Given the description of an element on the screen output the (x, y) to click on. 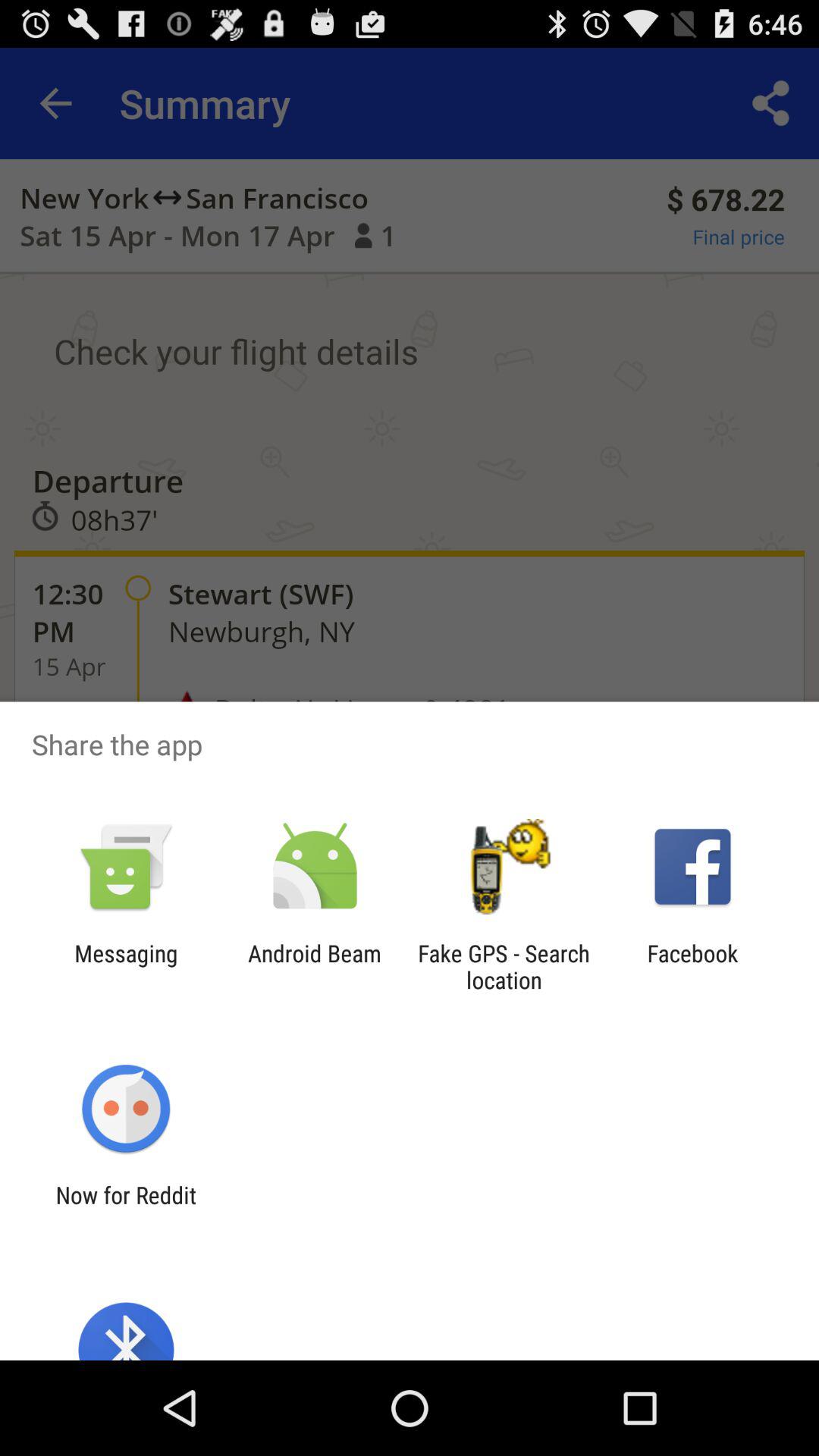
scroll to the now for reddit item (125, 1208)
